Given the description of an element on the screen output the (x, y) to click on. 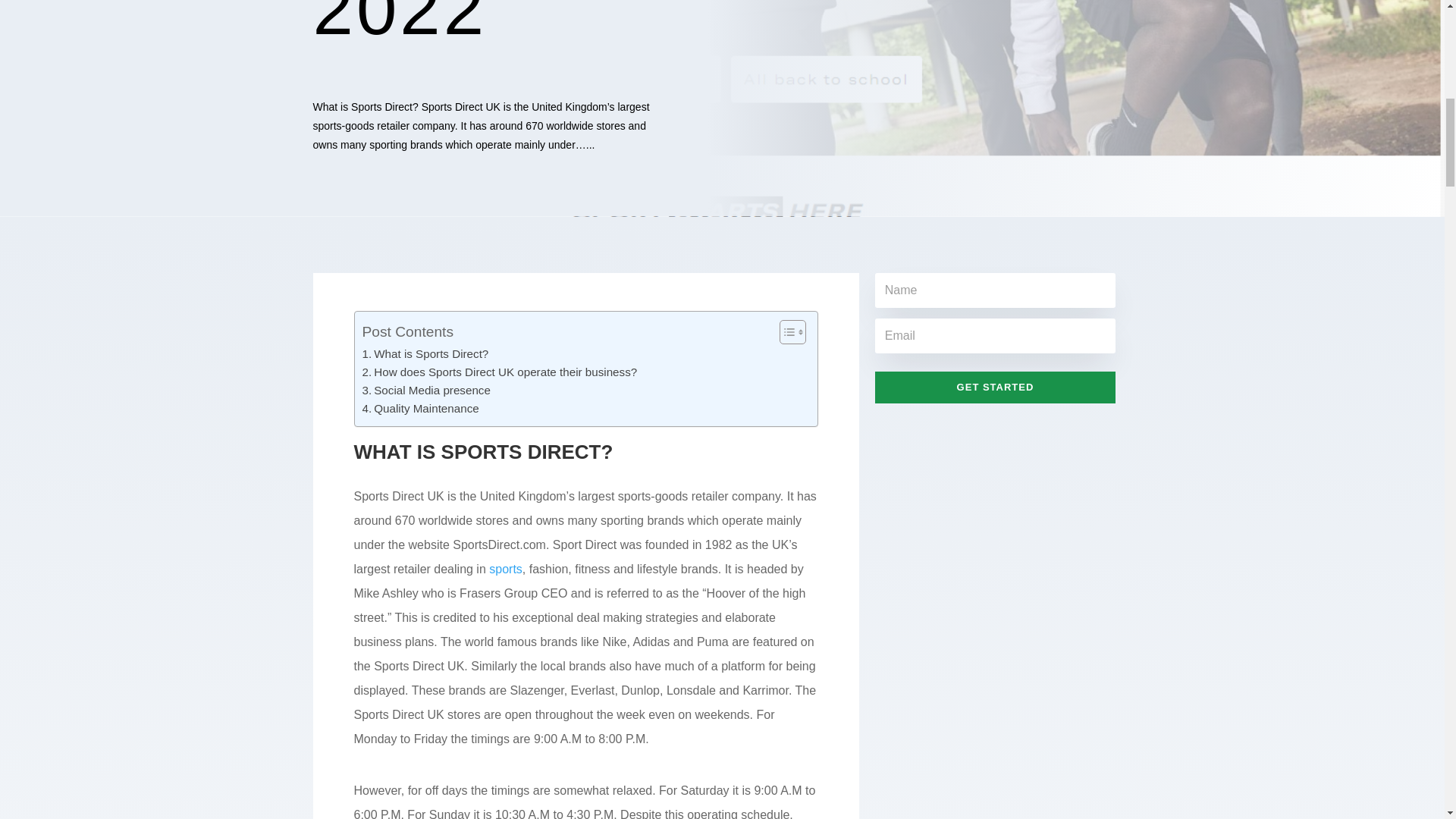
Social Media presence (426, 390)
Social Media presence (426, 390)
How does Sports Direct UK operate their business?  (501, 372)
What is Sports Direct? (425, 352)
sports (505, 568)
Quality Maintenance  (421, 408)
What is Sports Direct? (425, 352)
GET STARTED (995, 387)
